Given the description of an element on the screen output the (x, y) to click on. 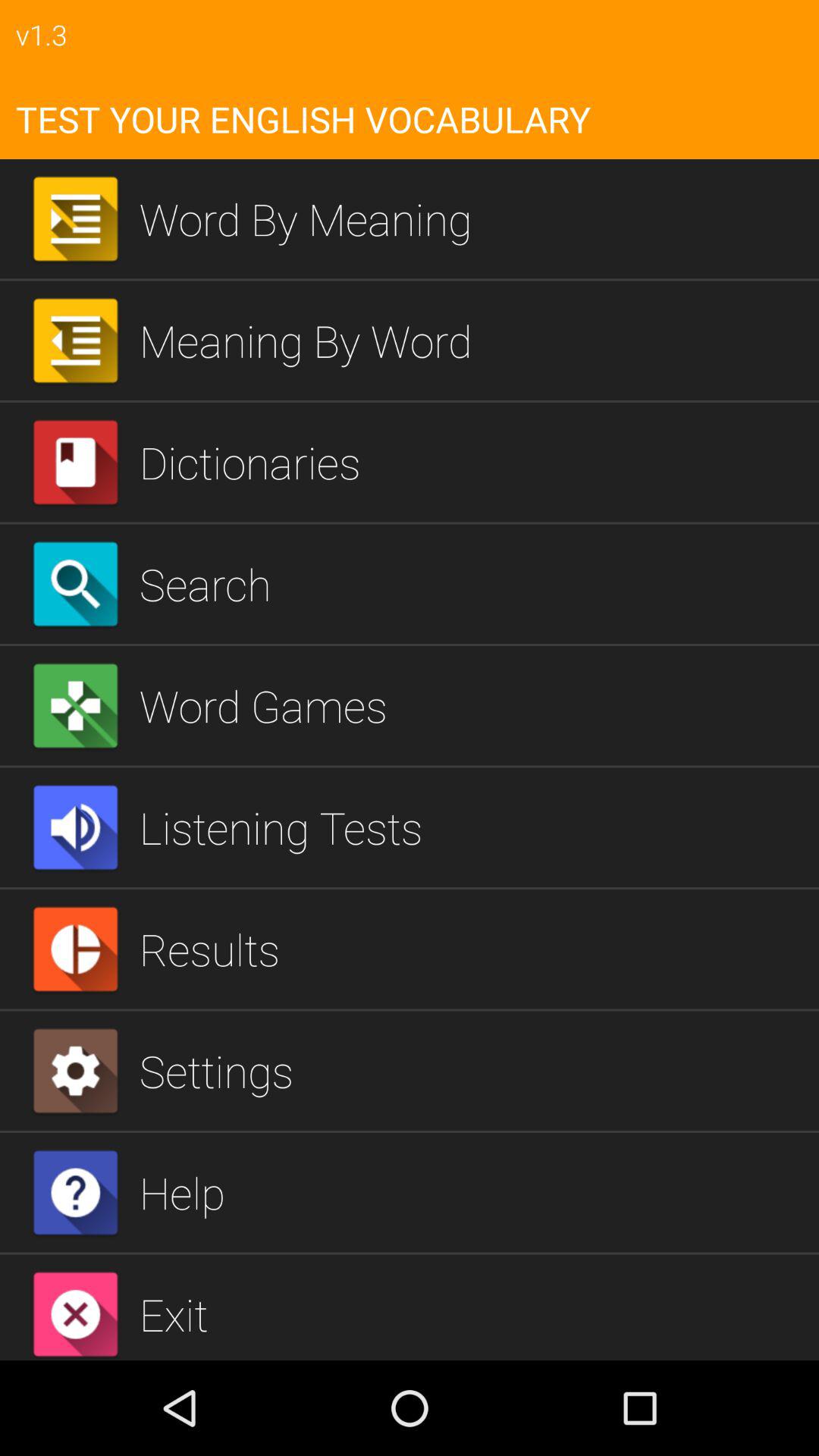
tap app below the search app (473, 705)
